Given the description of an element on the screen output the (x, y) to click on. 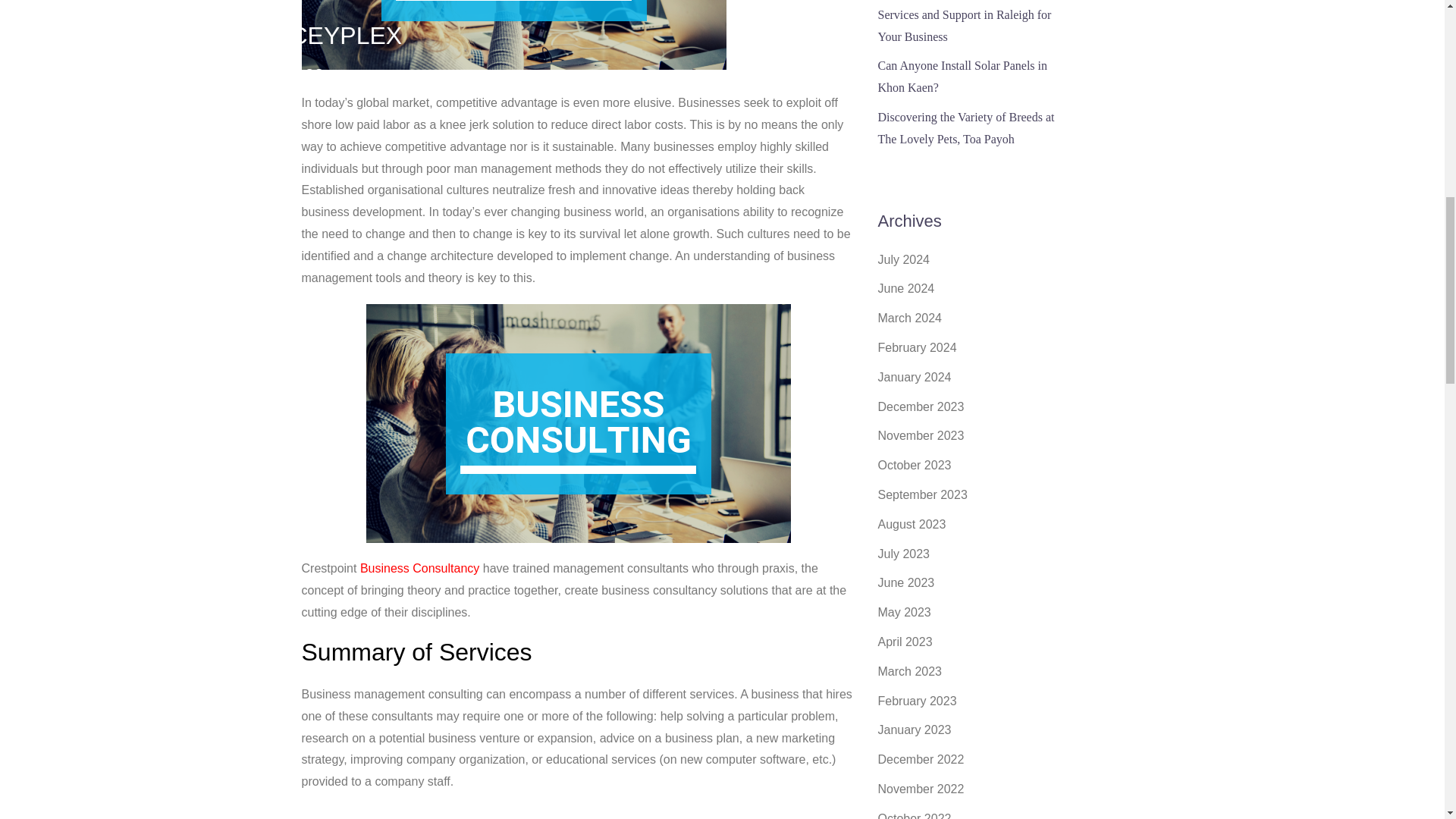
March 2023 (909, 671)
November 2022 (920, 788)
June 2023 (905, 582)
January 2024 (914, 377)
August 2023 (911, 523)
October 2023 (914, 464)
September 2023 (922, 494)
Business Consultancy (419, 567)
June 2024 (905, 287)
